Given the description of an element on the screen output the (x, y) to click on. 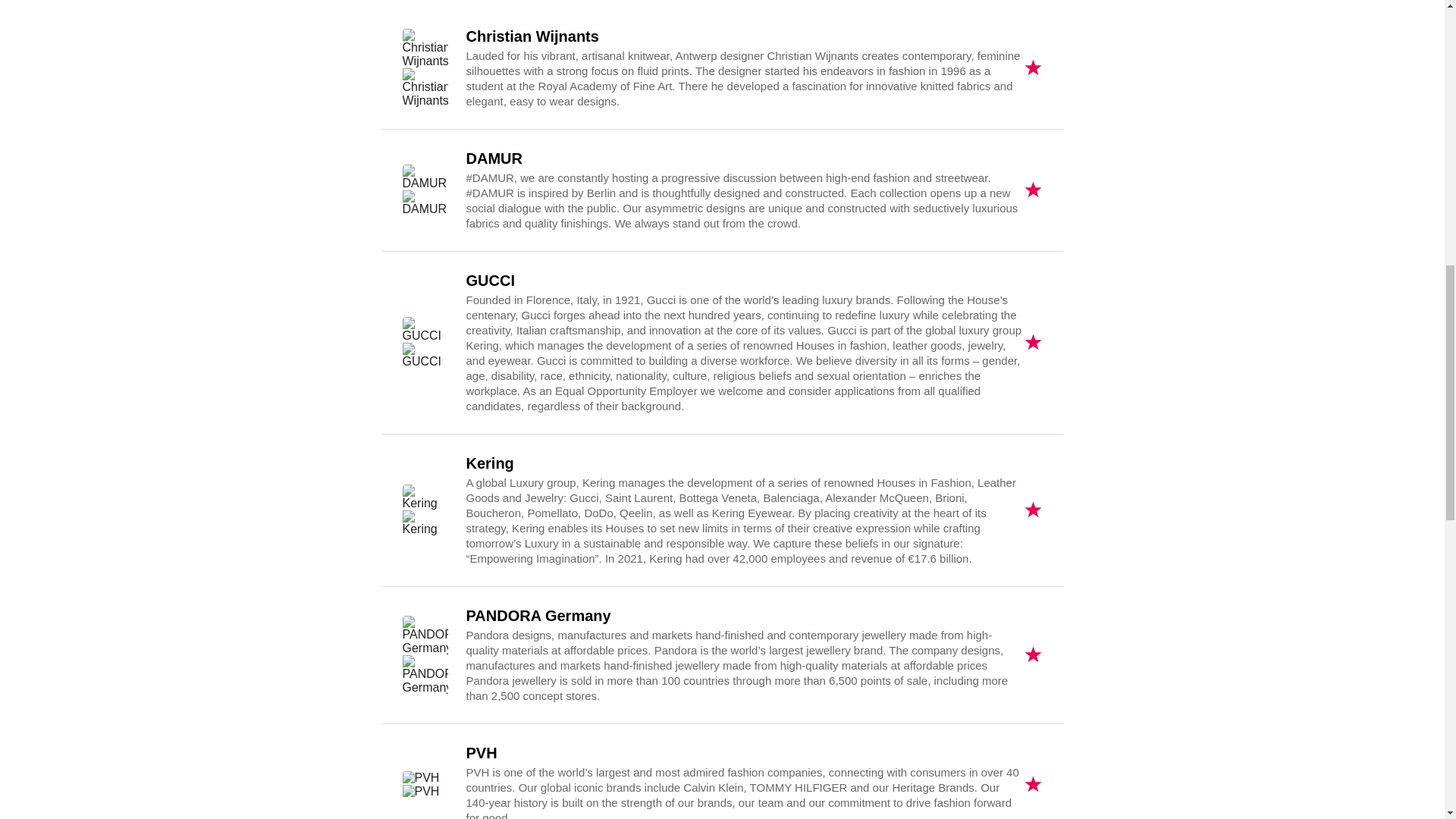
PANDORA Germany (423, 654)
Kering (423, 510)
Christian Wijnants (423, 67)
DAMUR (423, 190)
PVH (423, 784)
GUCCI (423, 342)
